Given the description of an element on the screen output the (x, y) to click on. 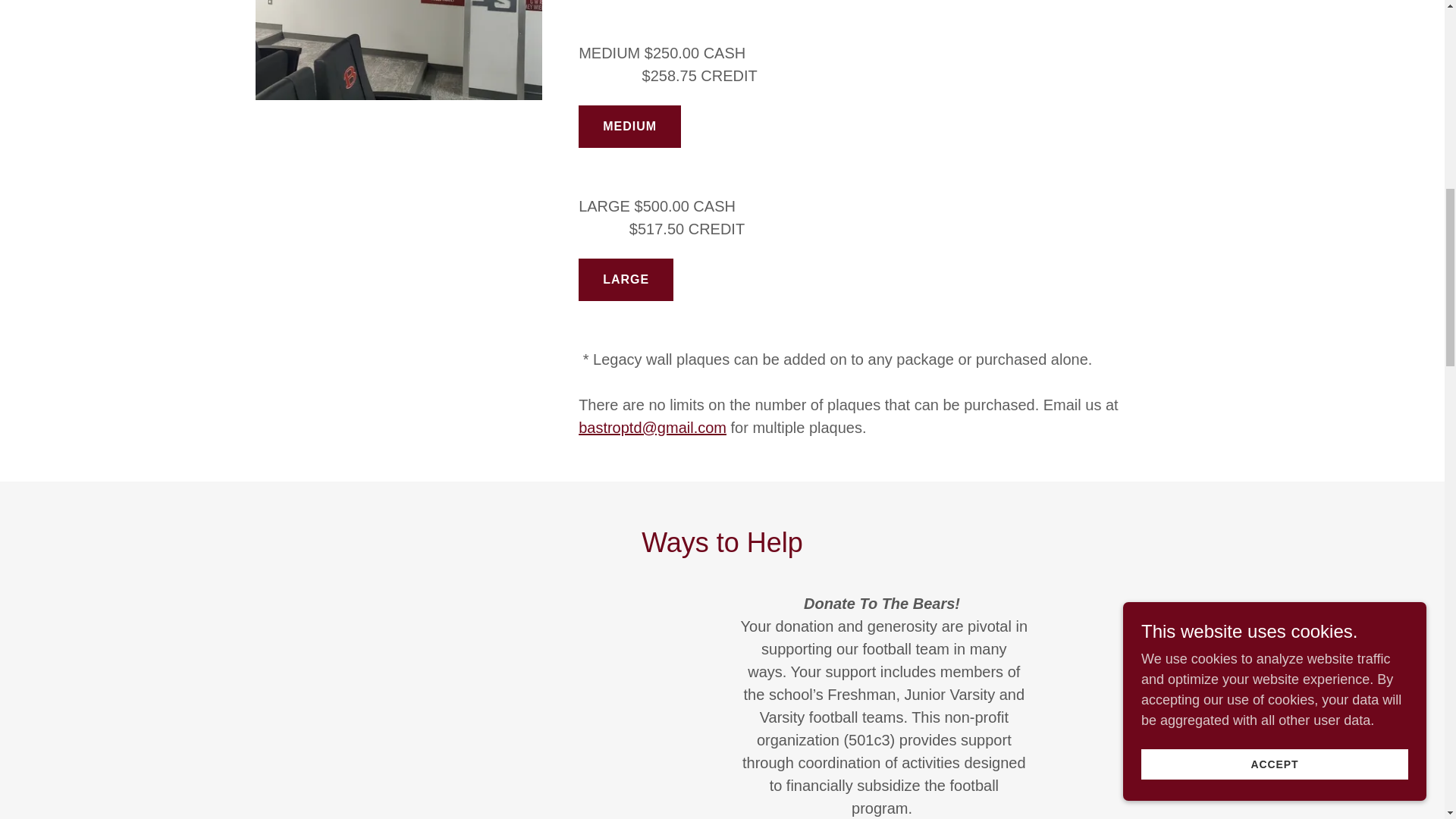
LARGE (625, 279)
MEDIUM (629, 126)
